Given the description of an element on the screen output the (x, y) to click on. 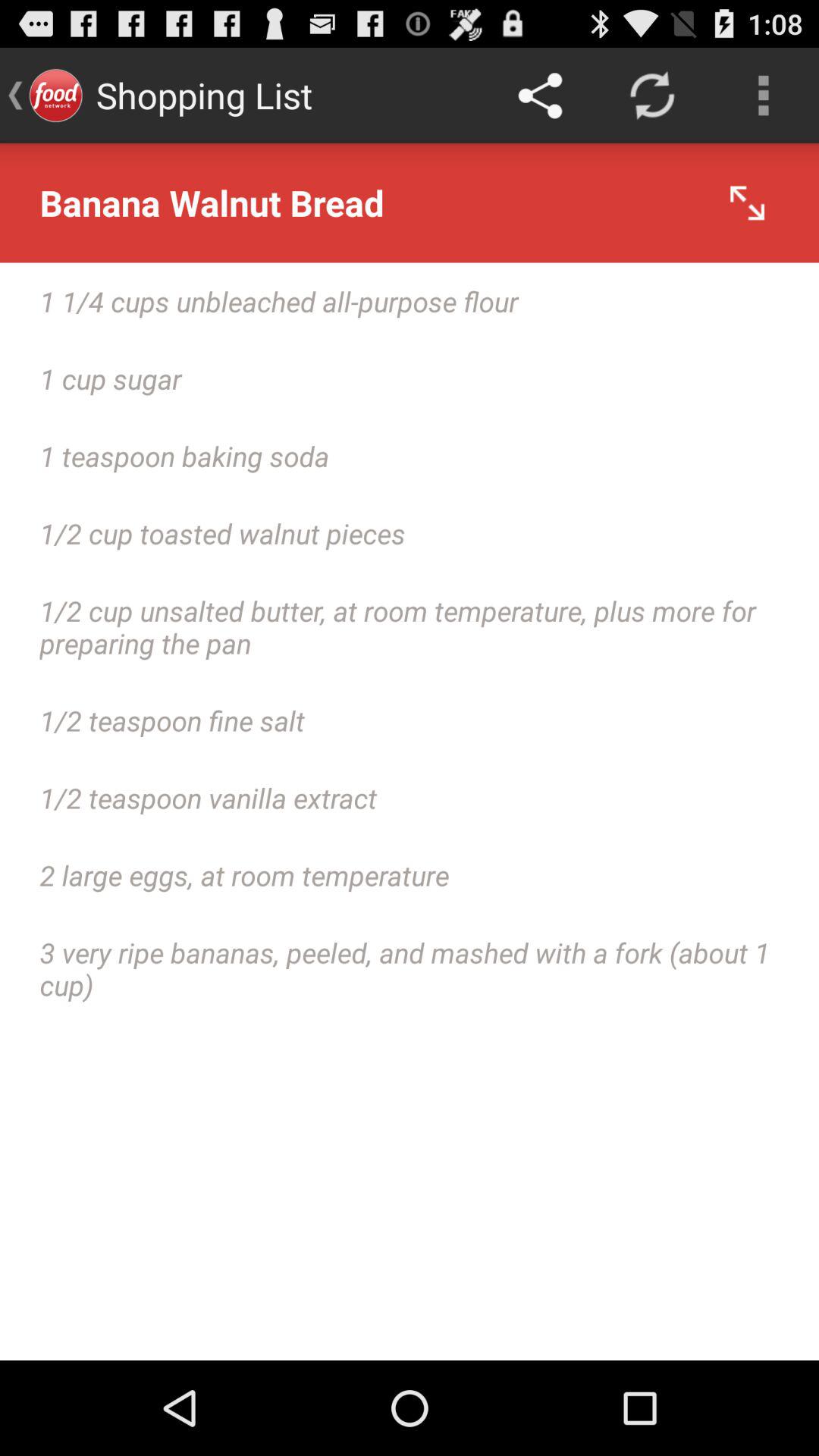
click the app next to the shopping list (540, 95)
